Given the description of an element on the screen output the (x, y) to click on. 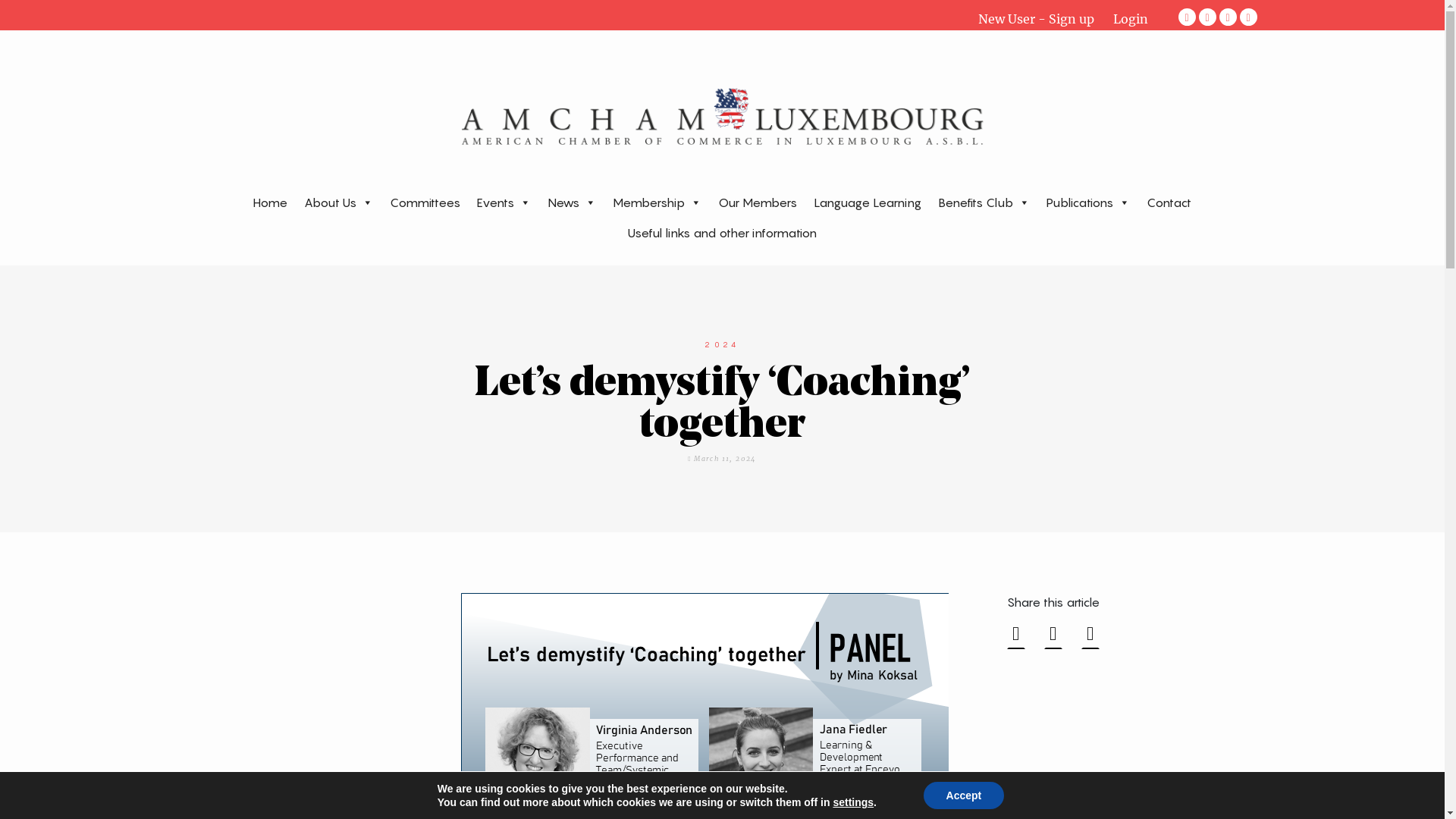
News (571, 201)
Home (269, 201)
Language Learning (867, 201)
Events (503, 201)
Membership (657, 201)
New User - Sign up (1045, 18)
Committees (424, 201)
About Us (338, 201)
Login (1130, 18)
Benefits Club (984, 201)
